Given the description of an element on the screen output the (x, y) to click on. 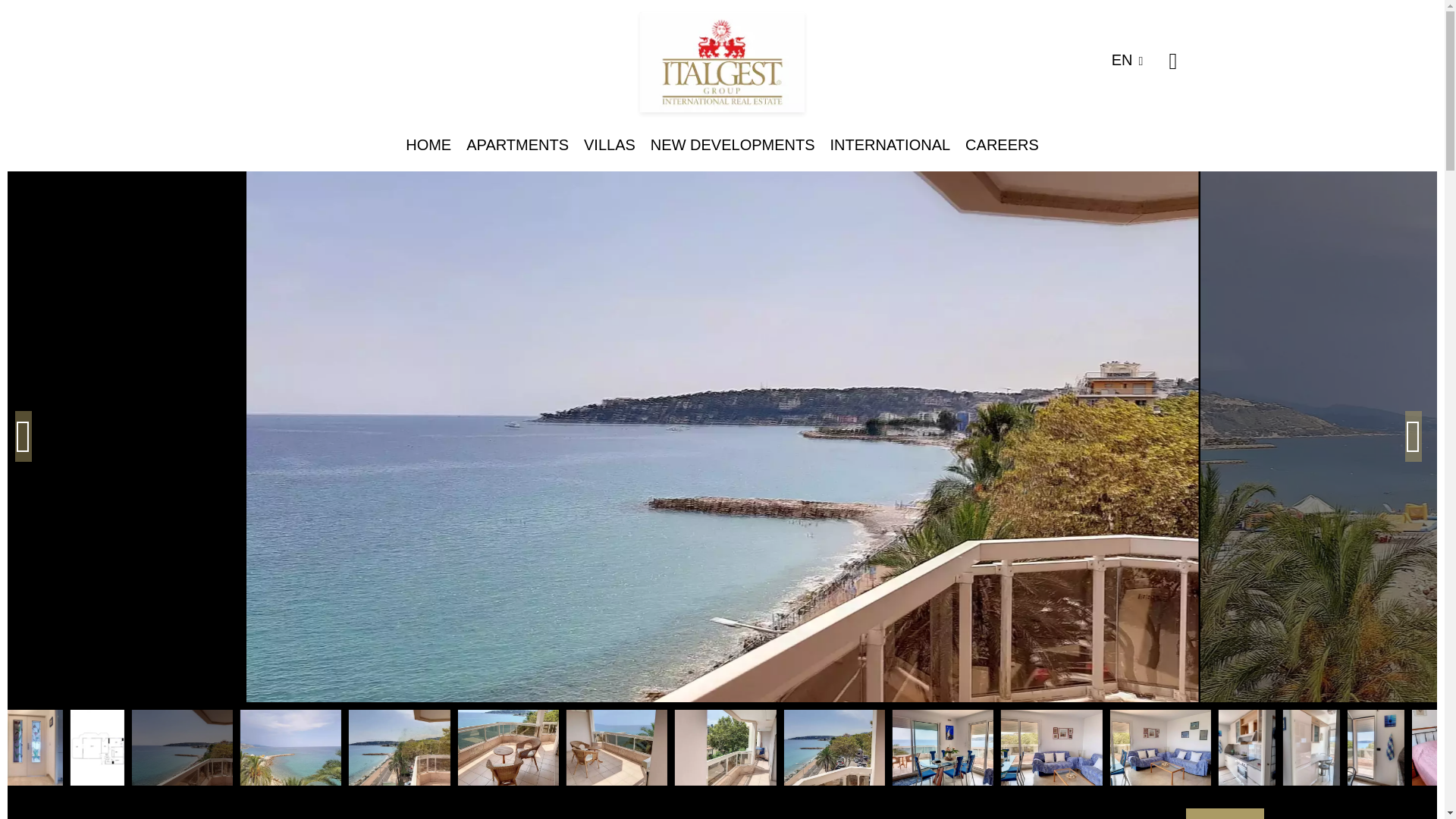
CAREERS (1002, 144)
APARTMENTS (517, 144)
INTERNATIONAL (889, 144)
NEW DEVELOPMENTS (732, 144)
En (1133, 59)
VILLAS (608, 144)
HOME (428, 144)
